Given the description of an element on the screen output the (x, y) to click on. 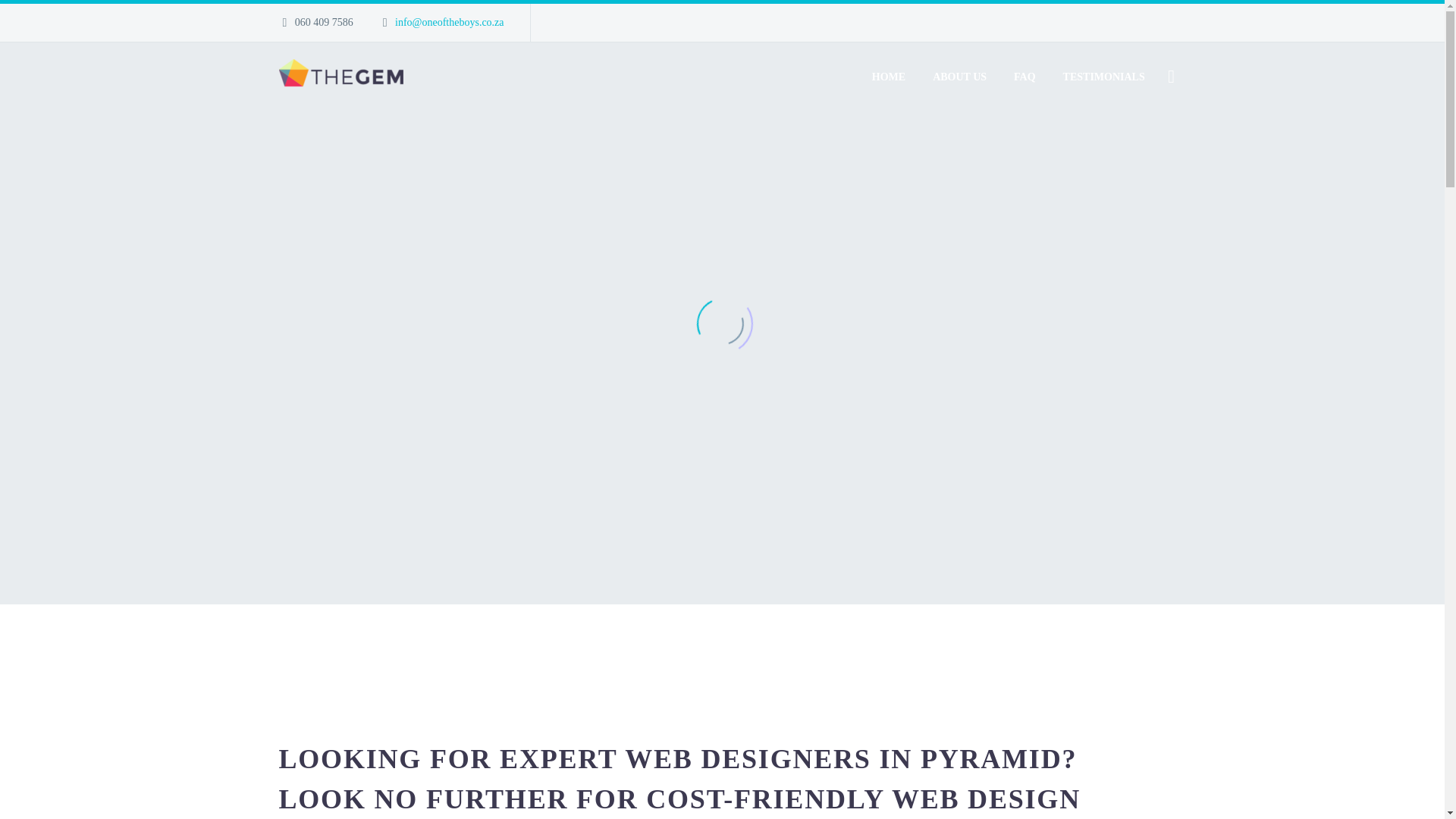
ABOUT US (959, 76)
TESTIMONIALS (1103, 76)
FAQ (1024, 76)
HOME (888, 76)
